Given the description of an element on the screen output the (x, y) to click on. 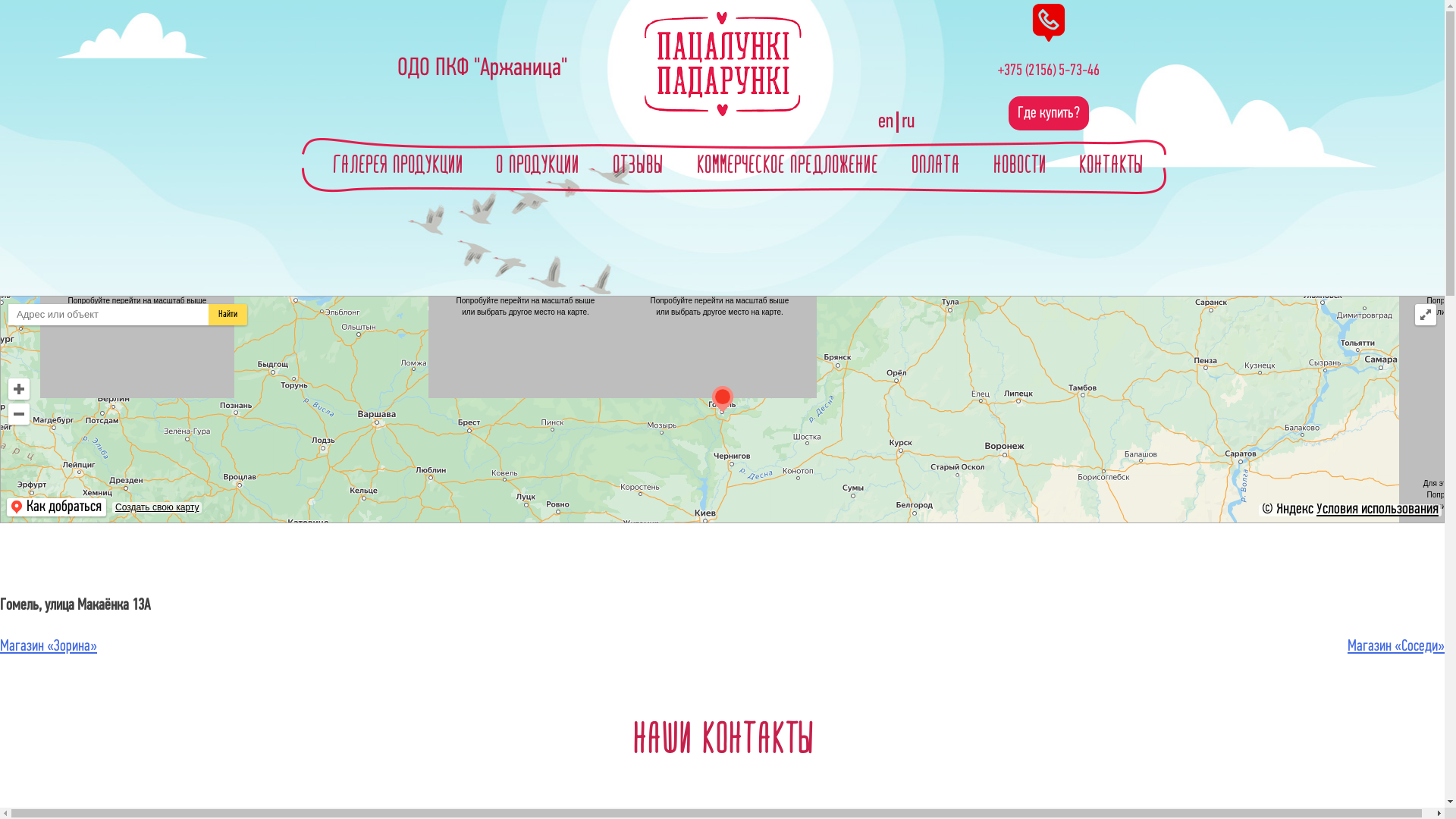
en Element type: text (888, 121)
+375 (2156) 5-73-46 Element type: text (1047, 70)
ru Element type: text (906, 121)
